Given the description of an element on the screen output the (x, y) to click on. 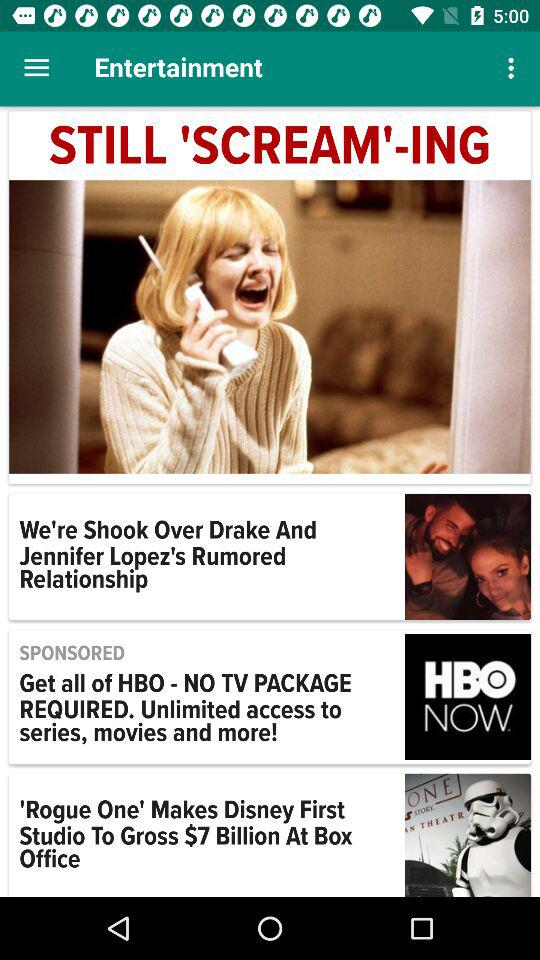
scroll until still 'scream'-ing item (270, 147)
